Given the description of an element on the screen output the (x, y) to click on. 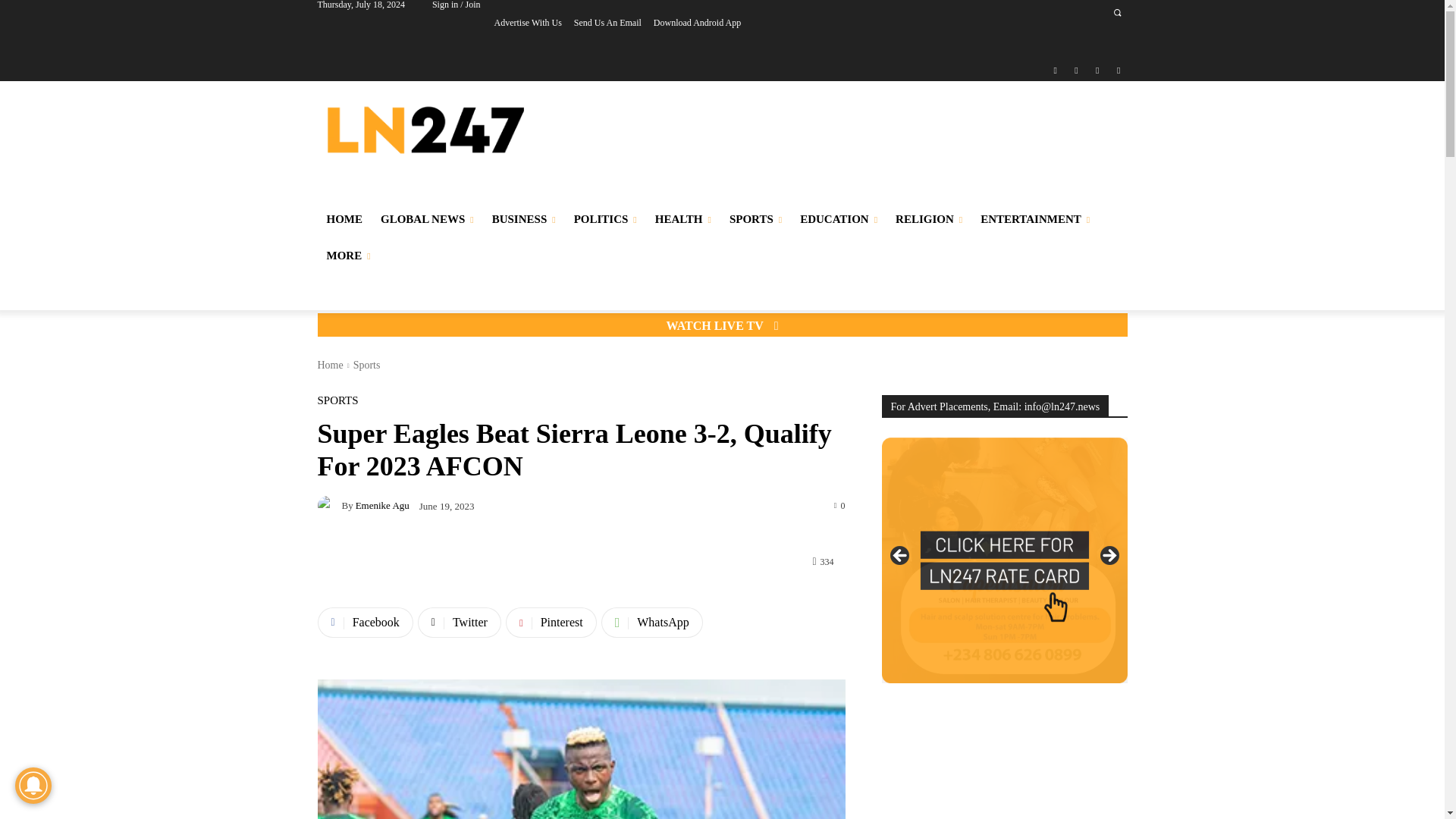
Youtube (1117, 70)
Facebook (1055, 70)
Instagram (1075, 70)
Twitter (1097, 70)
Advertisement (849, 146)
